Given the description of an element on the screen output the (x, y) to click on. 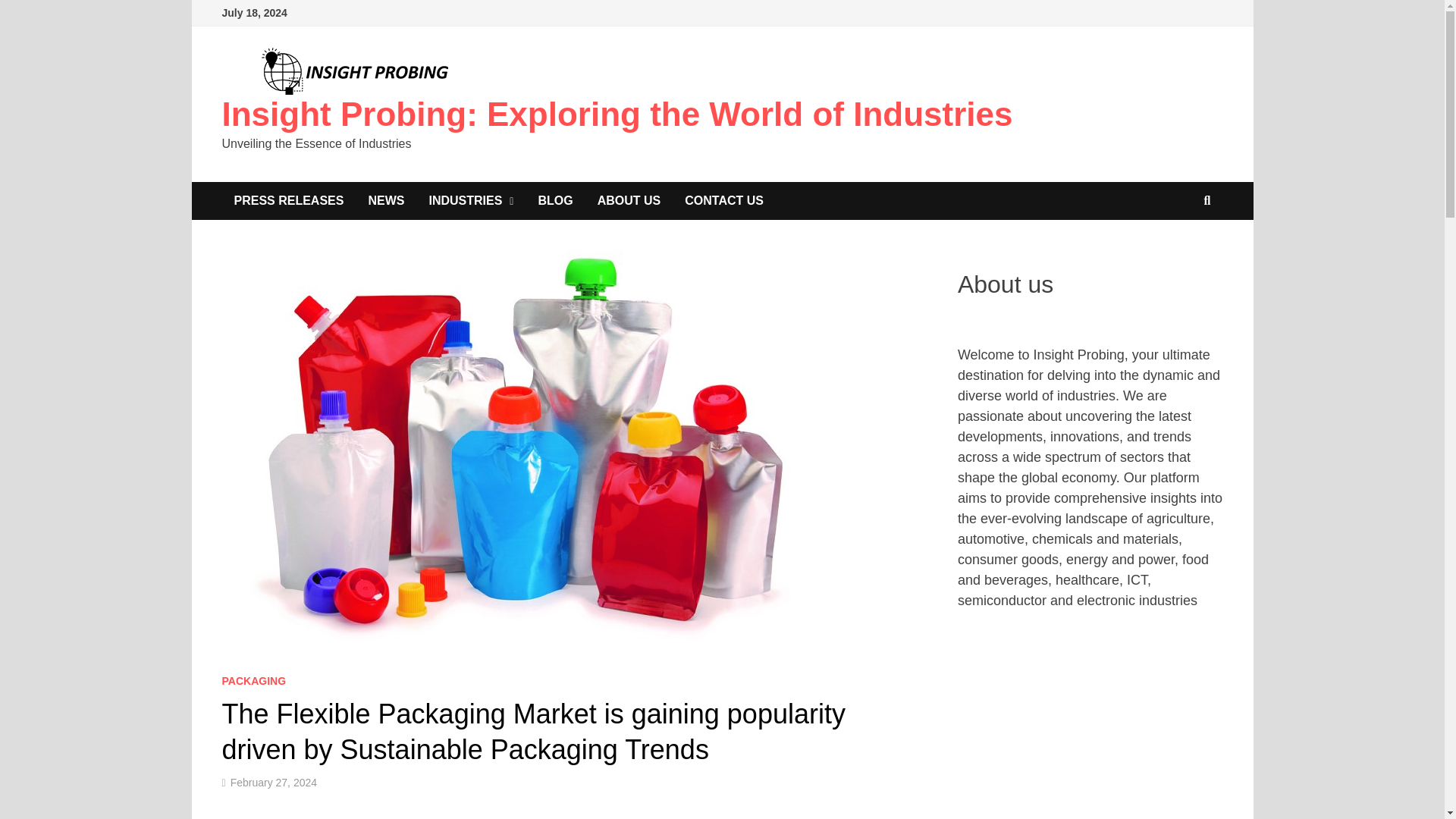
PRESS RELEASES (288, 200)
INDUSTRIES (470, 200)
ABOUT US (628, 200)
NEWS (385, 200)
Insight Probing: Exploring the World of Industries (616, 113)
BLOG (555, 200)
CONTACT US (724, 200)
